Given the description of an element on the screen output the (x, y) to click on. 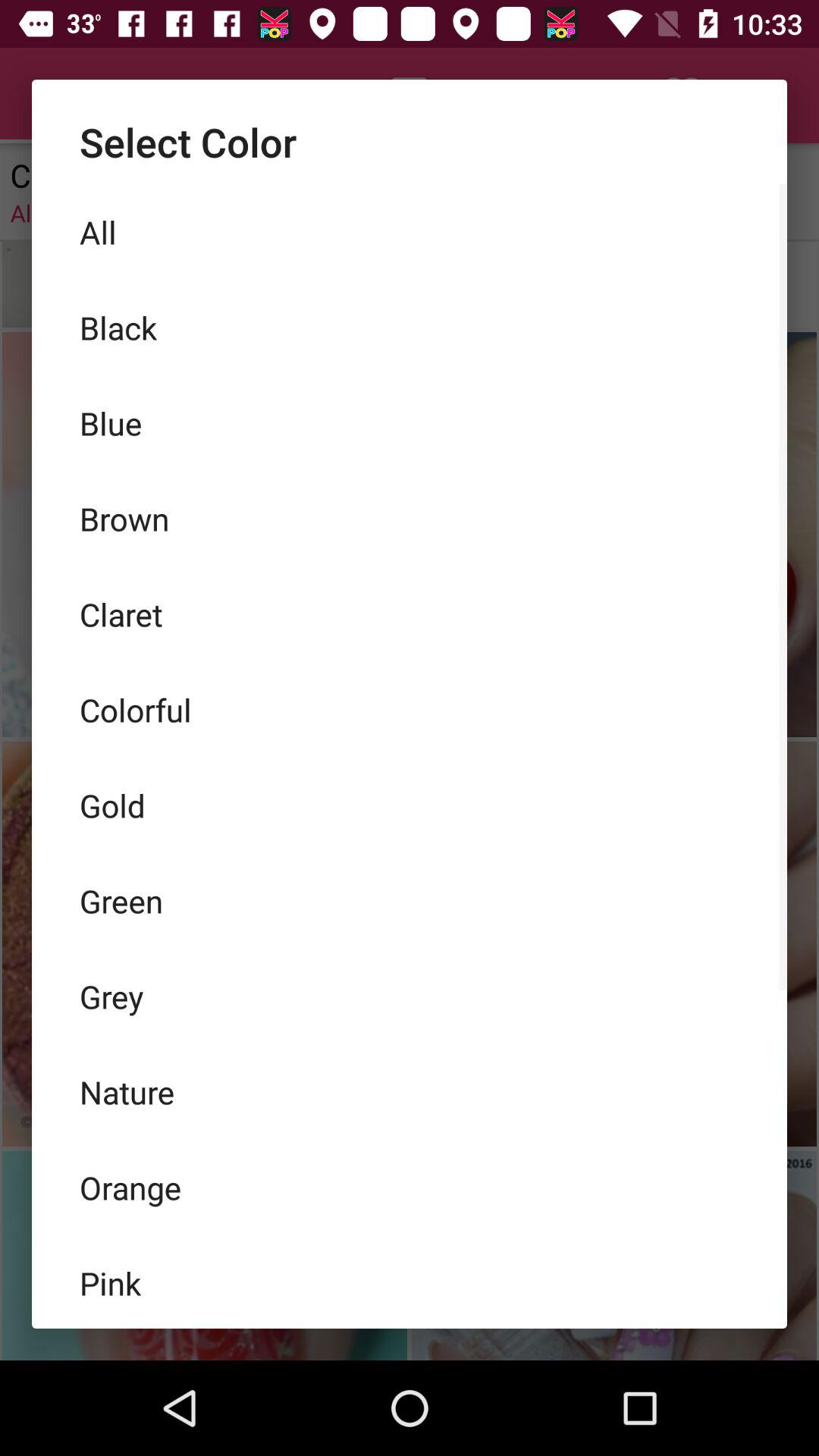
tap the orange icon (409, 1187)
